Given the description of an element on the screen output the (x, y) to click on. 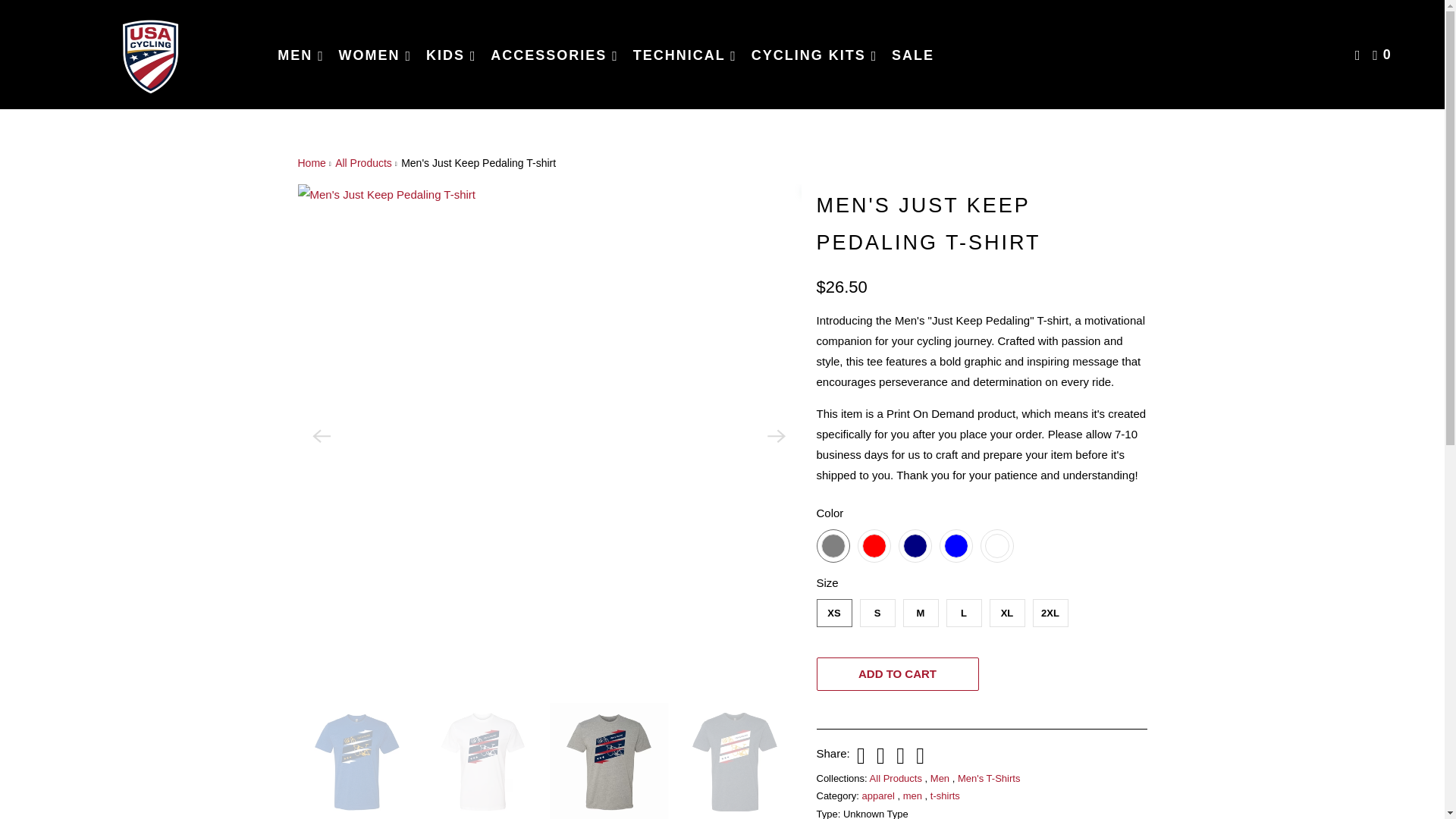
All Products (362, 162)
Men (941, 778)
USA Cycling (150, 54)
Men's T-Shirts (989, 778)
USA Cycling (310, 162)
All Products (896, 778)
